Given the description of an element on the screen output the (x, y) to click on. 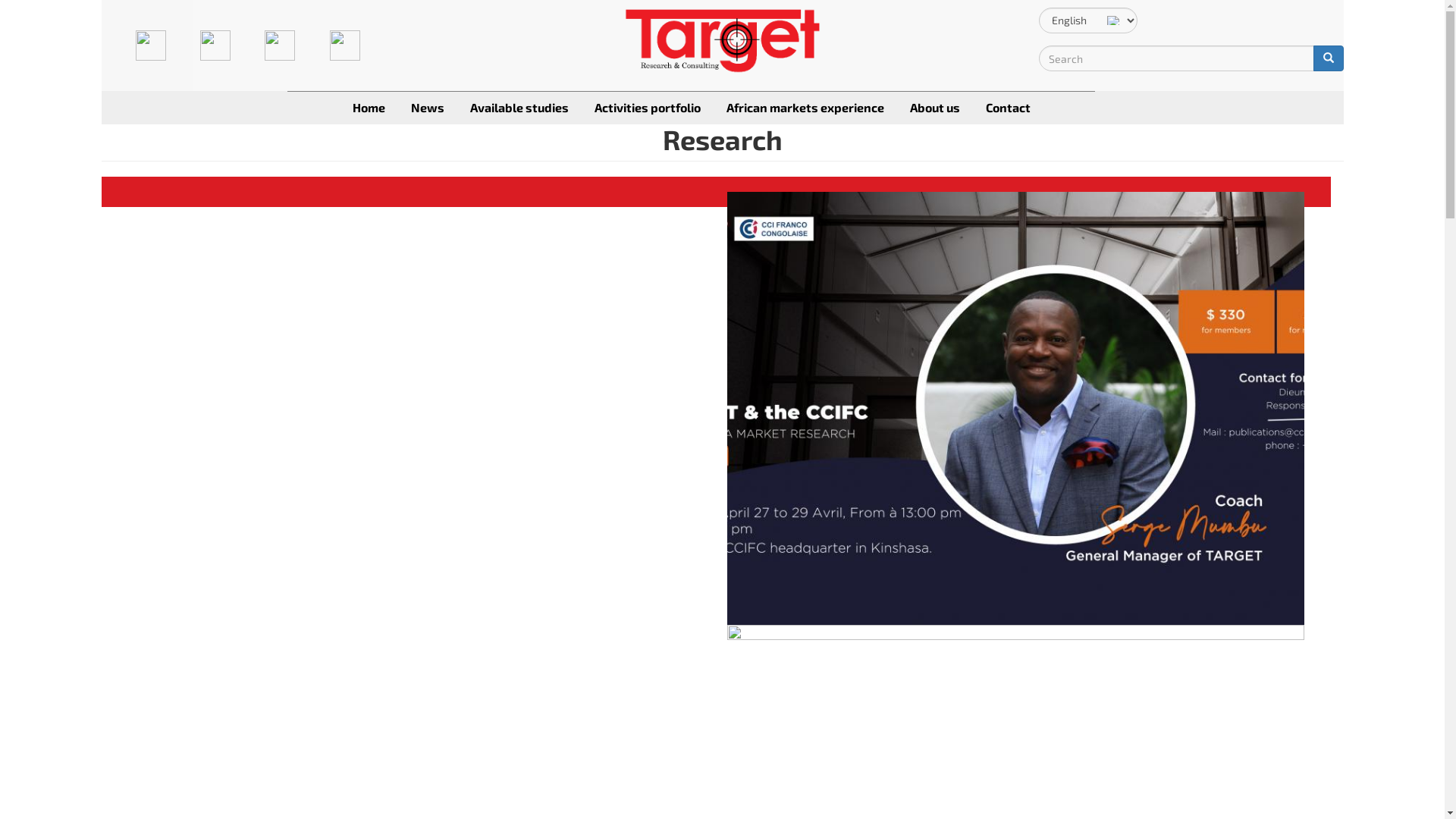
Contact Element type: text (1007, 107)
Enter the terms you wish to search for. Element type: hover (1176, 58)
Home Element type: text (368, 107)
About us Element type: text (934, 107)
Target and the CCIFC organize a market research training Element type: text (416, 714)
News Element type: text (427, 107)
African markets experience Element type: text (805, 107)
Skip to main content Element type: text (89, 0)
Search Element type: text (1039, 79)
English Element type: hover (1113, 20)
Activities portfolio Element type: text (647, 107)
Target and CCIFC organize training in market research Element type: text (416, 282)
Available studies Element type: text (519, 107)
